Given the description of an element on the screen output the (x, y) to click on. 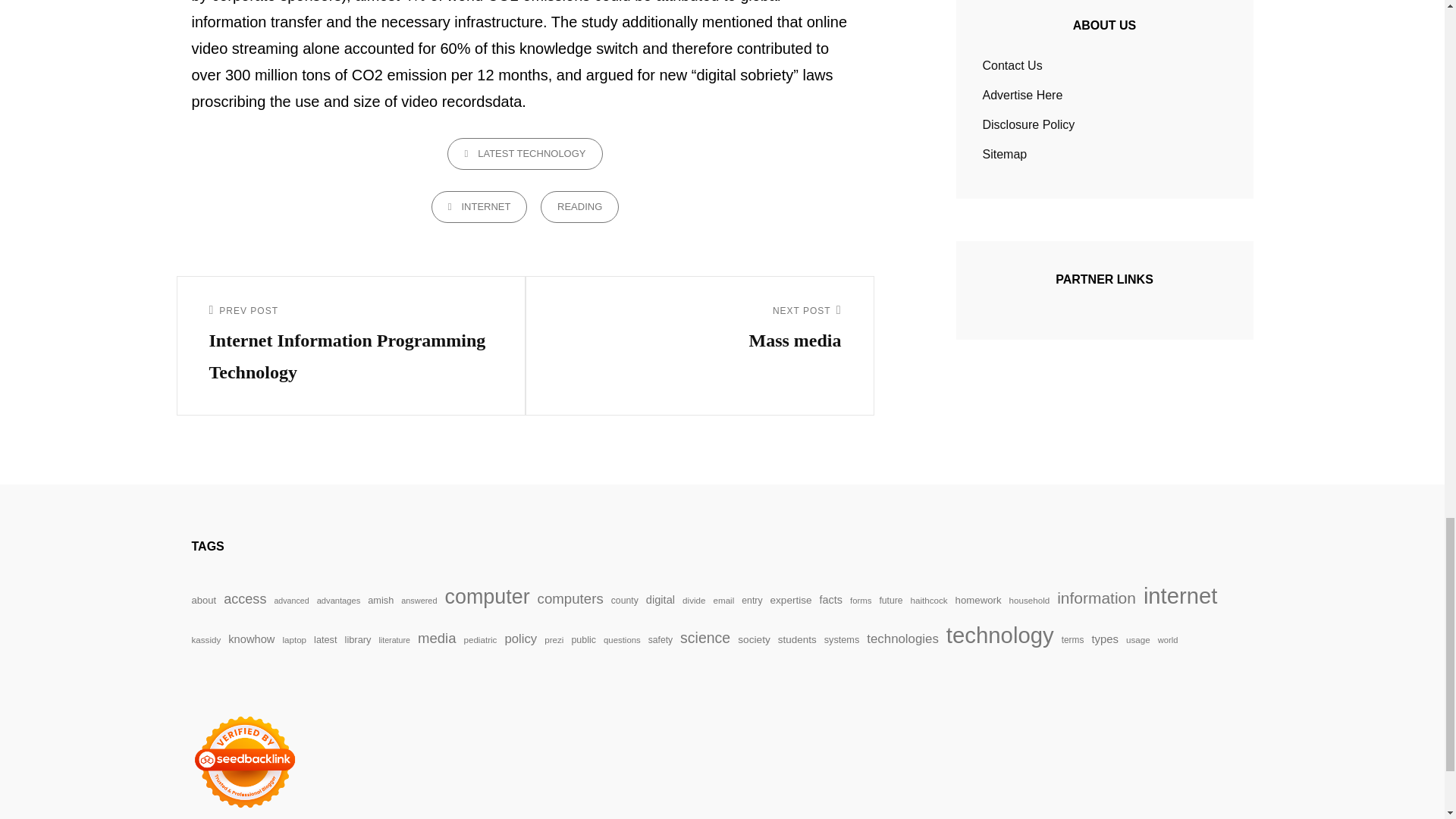
LATEST TECHNOLOGY (524, 153)
Seedbacklink (243, 761)
INTERNET (699, 329)
READING (478, 206)
